Given the description of an element on the screen output the (x, y) to click on. 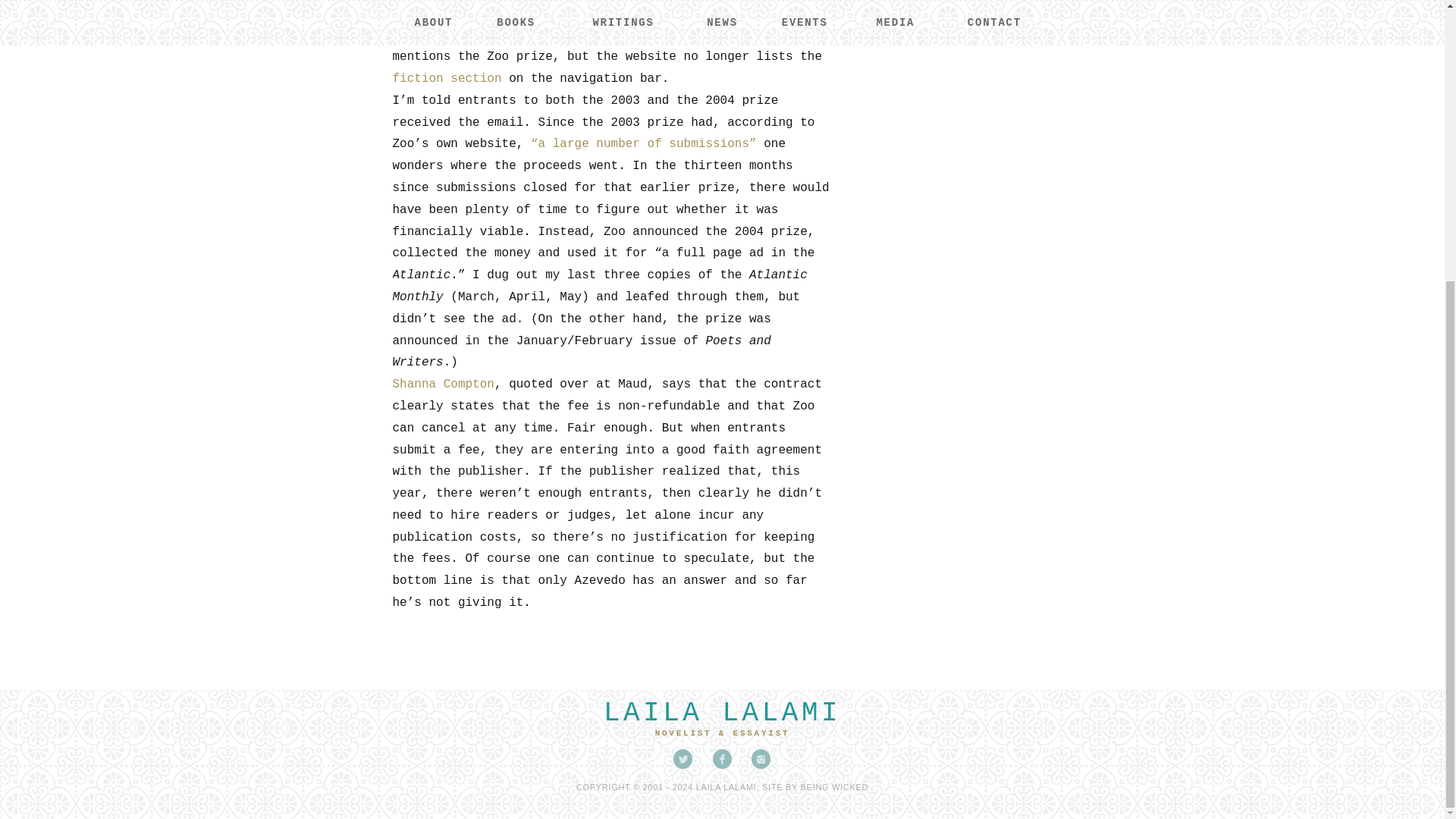
Facebook (722, 759)
fiction section (447, 78)
LAILA LALAMI (722, 712)
Shanna Compton (444, 384)
Instagram (761, 759)
UNDERAPPRECIATED BOOKS (945, 9)
Twitter (682, 759)
